Given the description of an element on the screen output the (x, y) to click on. 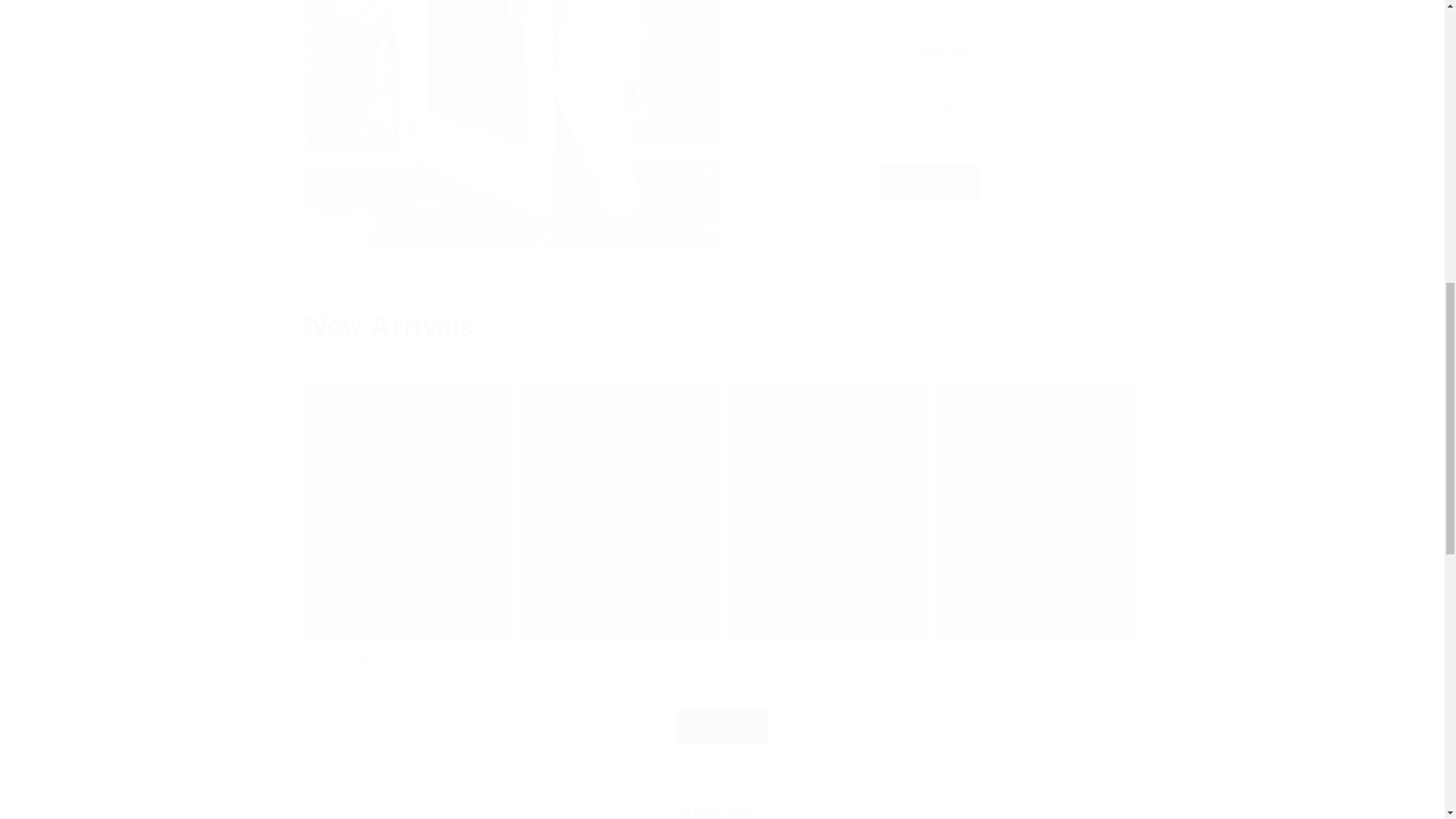
Cooper City, FL 33024 (930, 77)
Sally Crochet Maxi (617, 658)
Visit Now (929, 181)
Dance All Night Ruffle Set (406, 658)
New Arrivals (721, 326)
Amanda Set (1038, 658)
Jasmine Romper (826, 658)
Shop Now (721, 810)
